Given the description of an element on the screen output the (x, y) to click on. 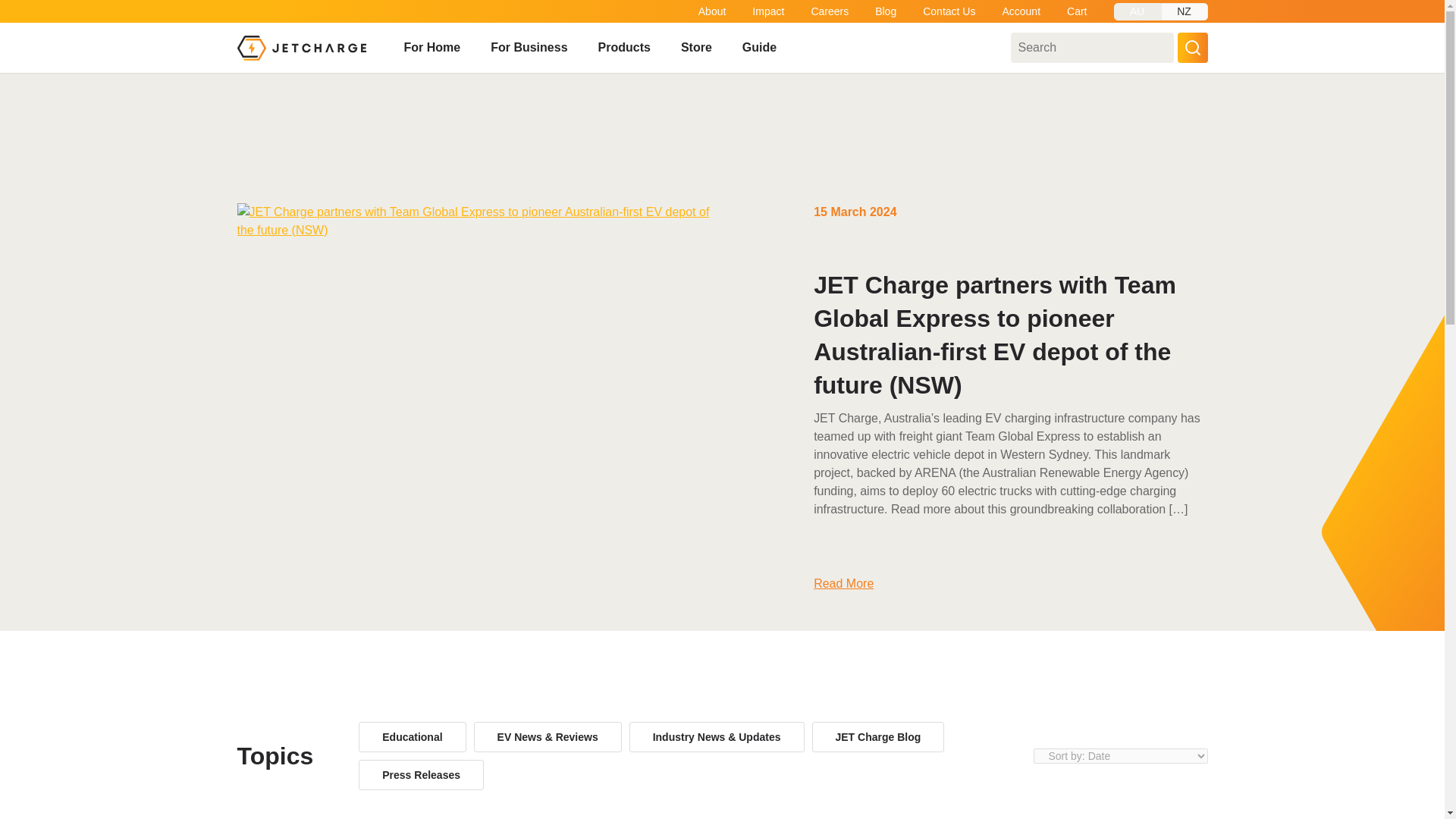
Impact (768, 10)
For Home (431, 47)
Guide (759, 47)
JET Charge Homepage (300, 47)
Cart (1076, 10)
Products (624, 47)
Blog (885, 10)
Store (696, 47)
AU (1136, 11)
About (712, 10)
